Given the description of an element on the screen output the (x, y) to click on. 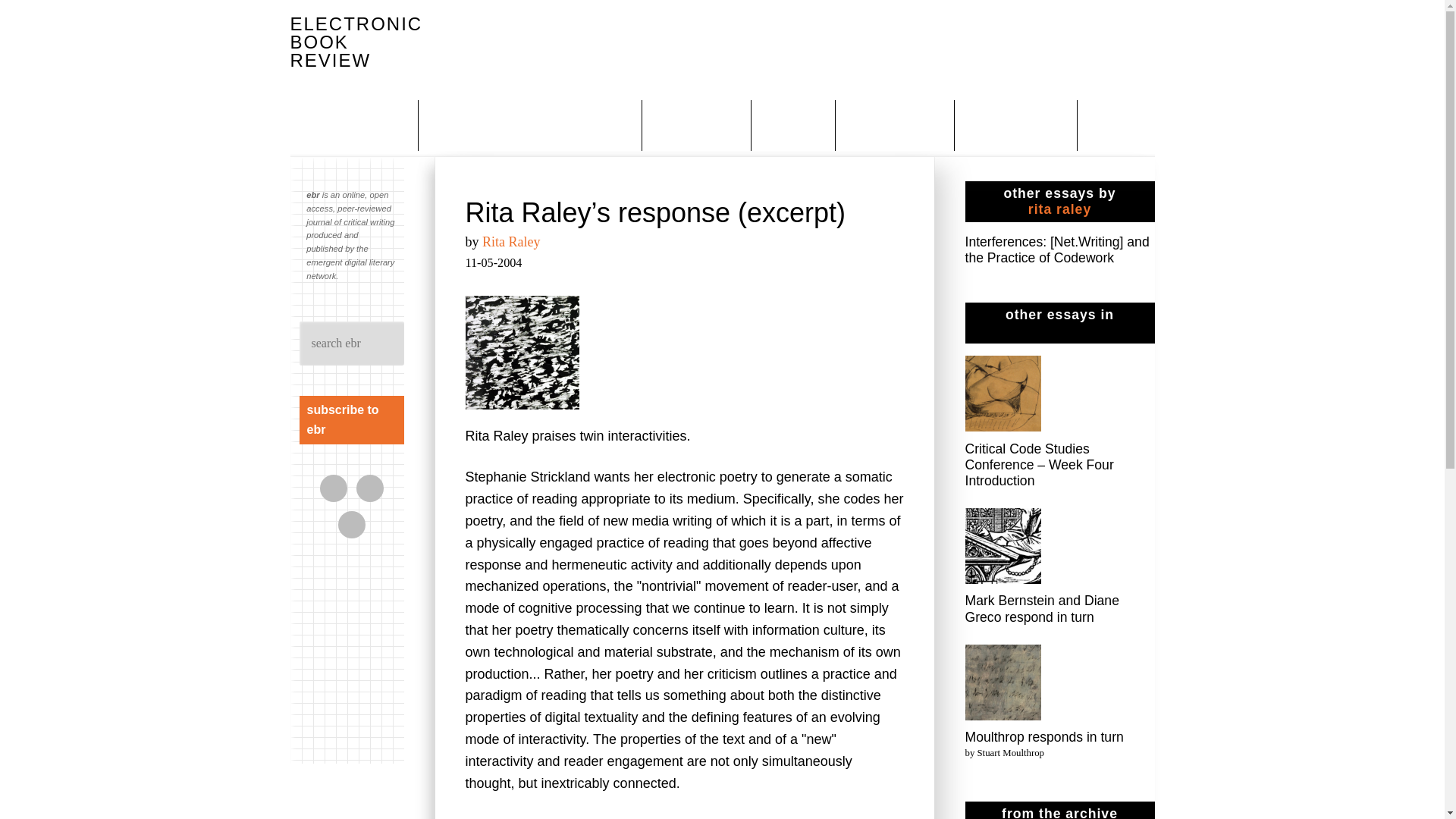
SUBSCRIBE (698, 124)
Mark Bernstein and Diane Greco respond in turn (1040, 608)
NEWSLETTER (1017, 124)
POLICIES AND SUBMISSIONS (532, 124)
ABOUT EBR (365, 124)
Moulthrop responds in turn (1042, 736)
Stephanie Strickland responds (809, 817)
rita raley (1058, 209)
subscribe to ebr (350, 419)
ELECTRONIC BOOK REVIEW (355, 41)
GATHERINGS (896, 124)
